Given the description of an element on the screen output the (x, y) to click on. 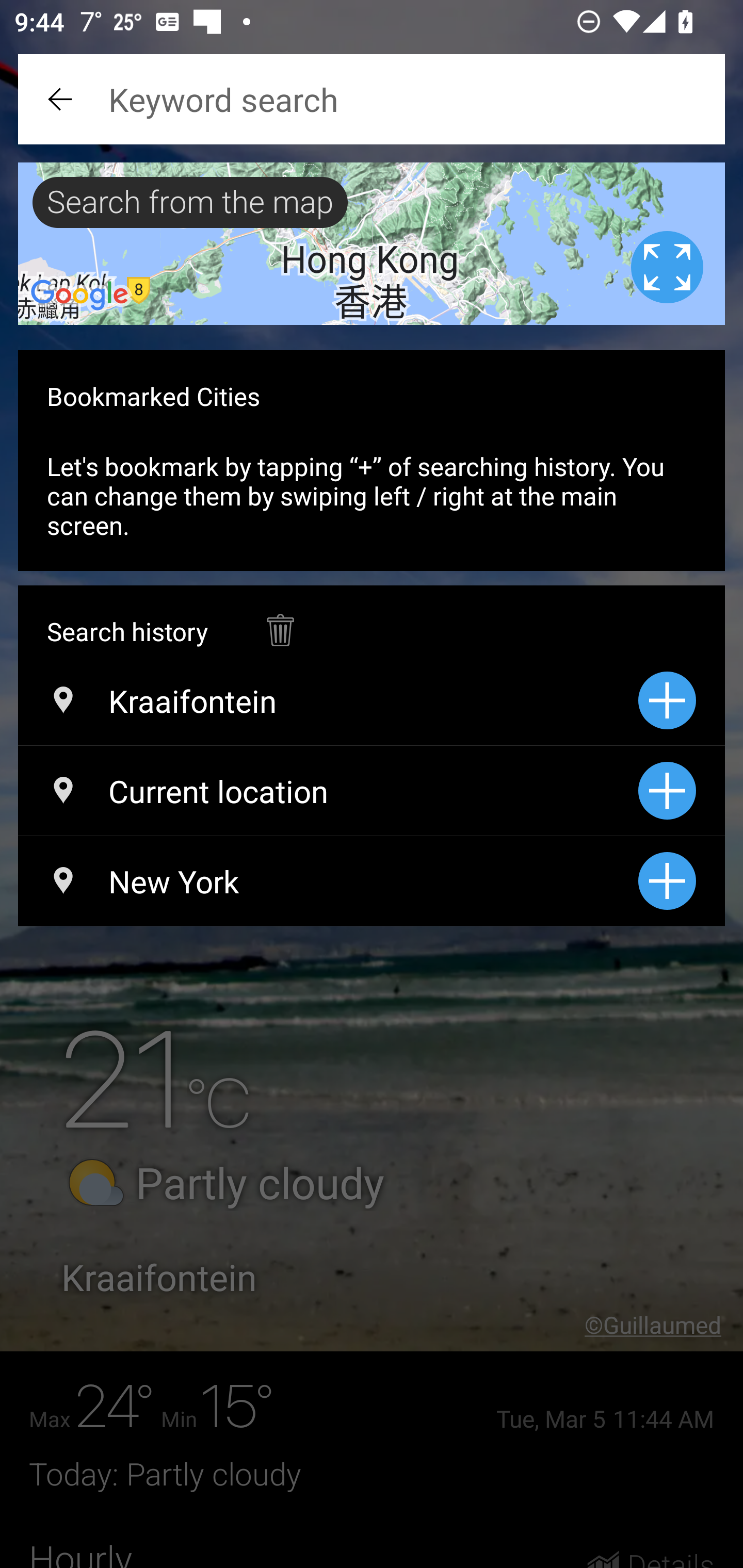
Keyword search (371, 99)
 (61, 99)
 (280, 619)
 Kraaifontein (327, 700)
 Current location (327, 790)
 New York (327, 880)
